Given the description of an element on the screen output the (x, y) to click on. 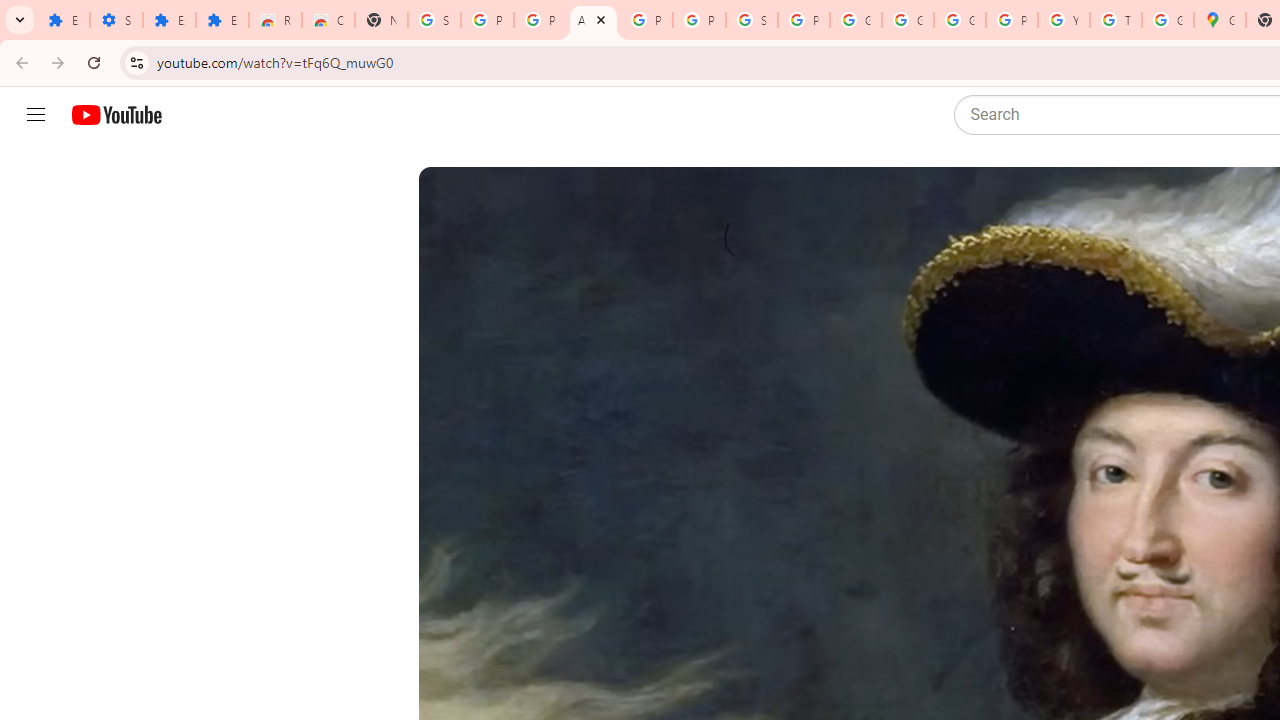
YouTube Home (116, 115)
Settings (116, 20)
Guide (35, 115)
Google Account (907, 20)
Google Maps (1219, 20)
Extensions (63, 20)
Extensions (222, 20)
